Given the description of an element on the screen output the (x, y) to click on. 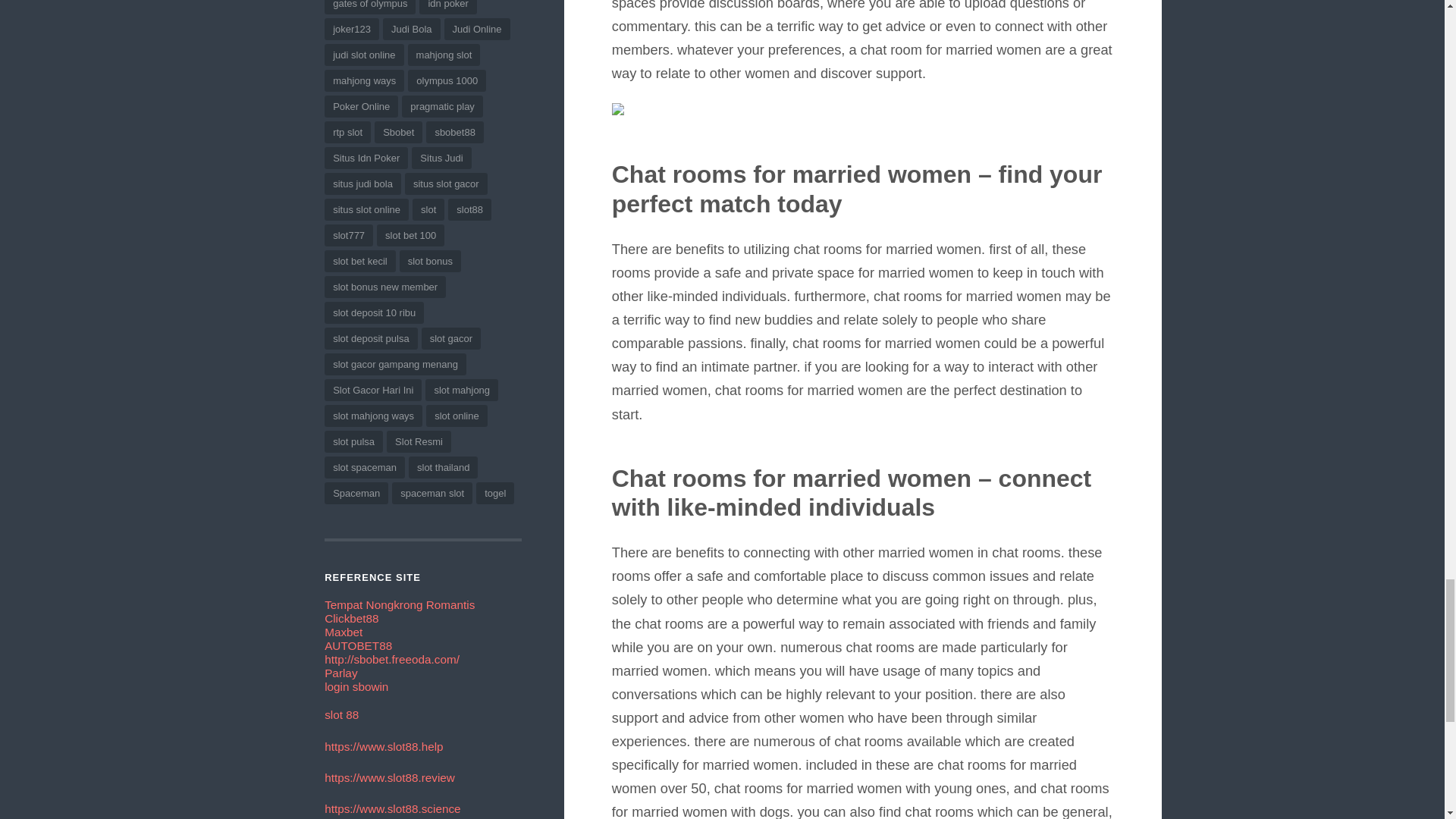
Sbobet (392, 658)
Maxbet (343, 631)
Clickbet88 (351, 617)
login sbowin (356, 686)
Parlay (340, 672)
AUTOBET88 (357, 645)
